Given the description of an element on the screen output the (x, y) to click on. 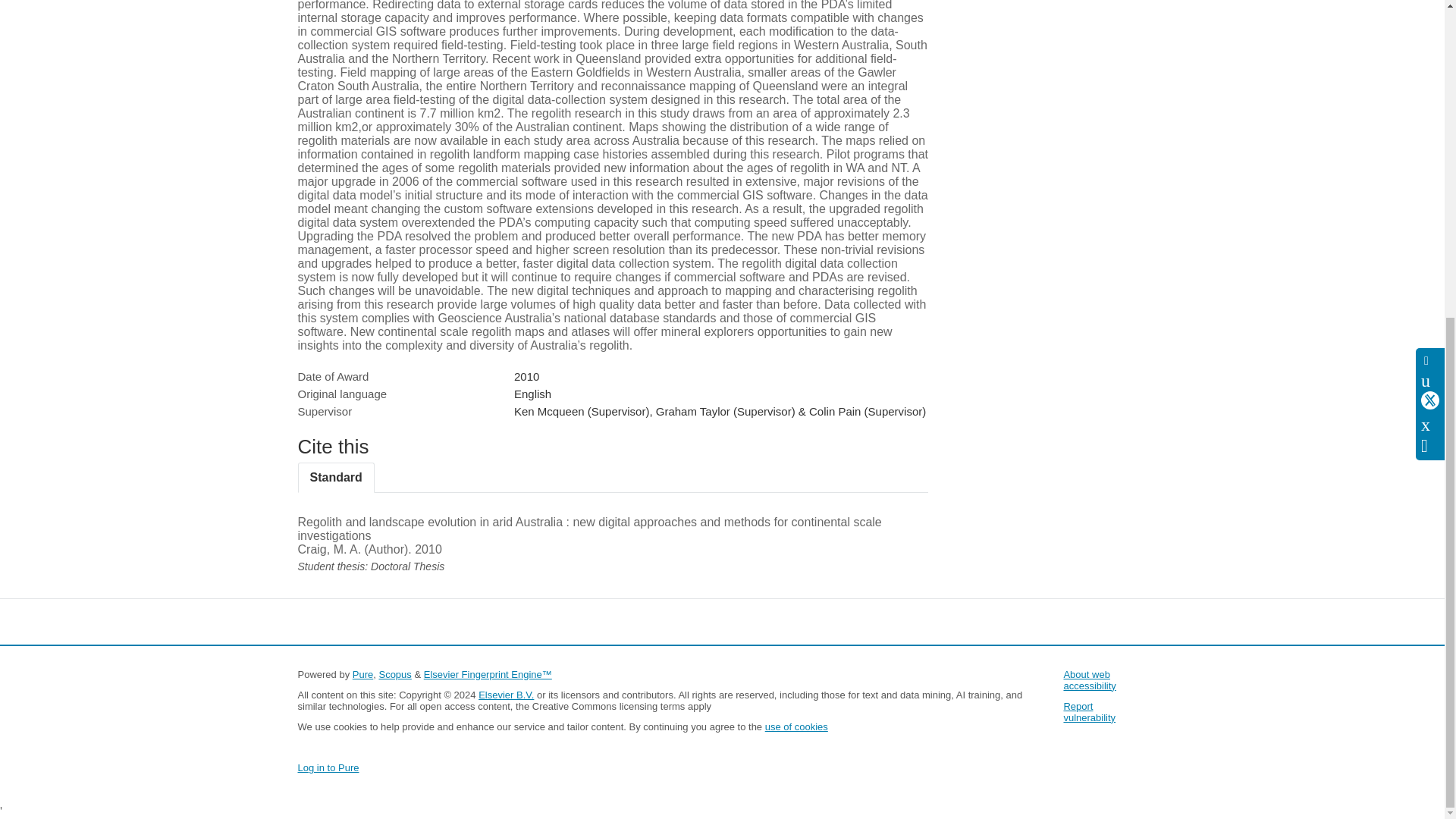
Scopus (394, 674)
Elsevier B.V. (506, 695)
Pure (362, 674)
use of cookies (796, 726)
About web accessibility (1088, 680)
Log in to Pure (327, 767)
Report vulnerability (1088, 712)
